Given the description of an element on the screen output the (x, y) to click on. 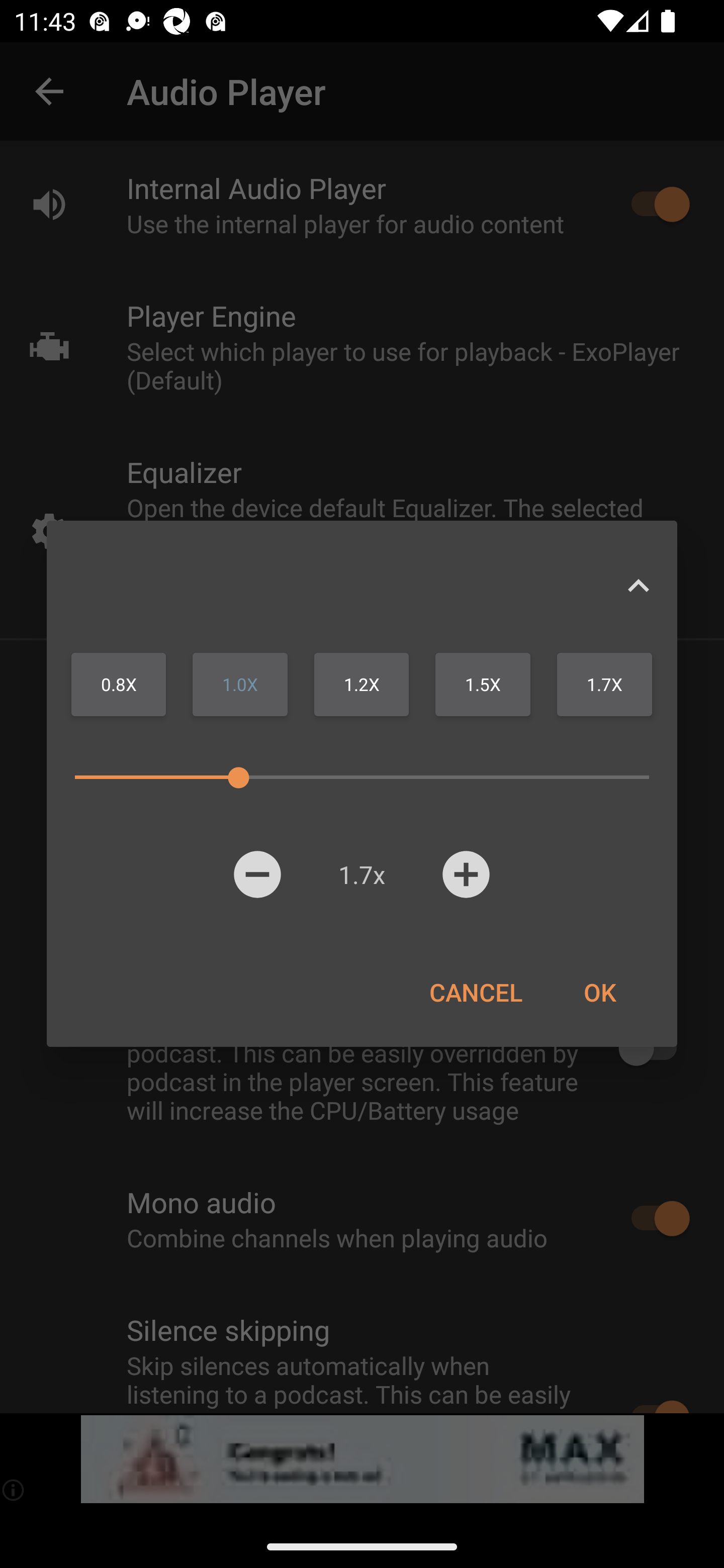
Expand (637, 585)
0.8X (118, 683)
1.0X (239, 683)
1.2X (360, 683)
1.5X (482, 683)
1.7X (604, 683)
1.7x (361, 873)
CANCEL (475, 992)
OK (599, 992)
